Given the description of an element on the screen output the (x, y) to click on. 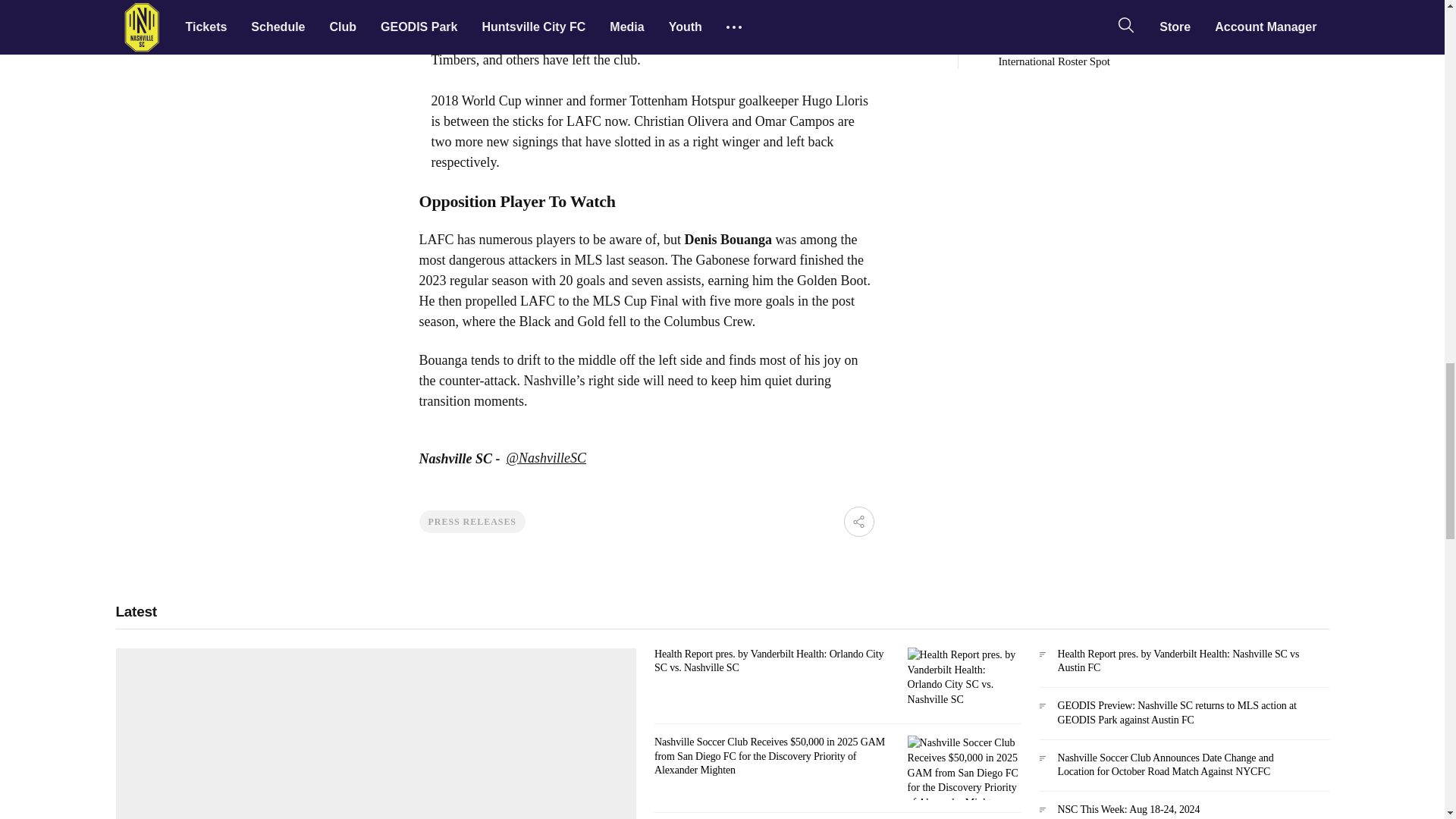
Go to the Twitter profile (546, 458)
NSC This Week: Aug 18-24, 2024 (1183, 811)
